Given the description of an element on the screen output the (x, y) to click on. 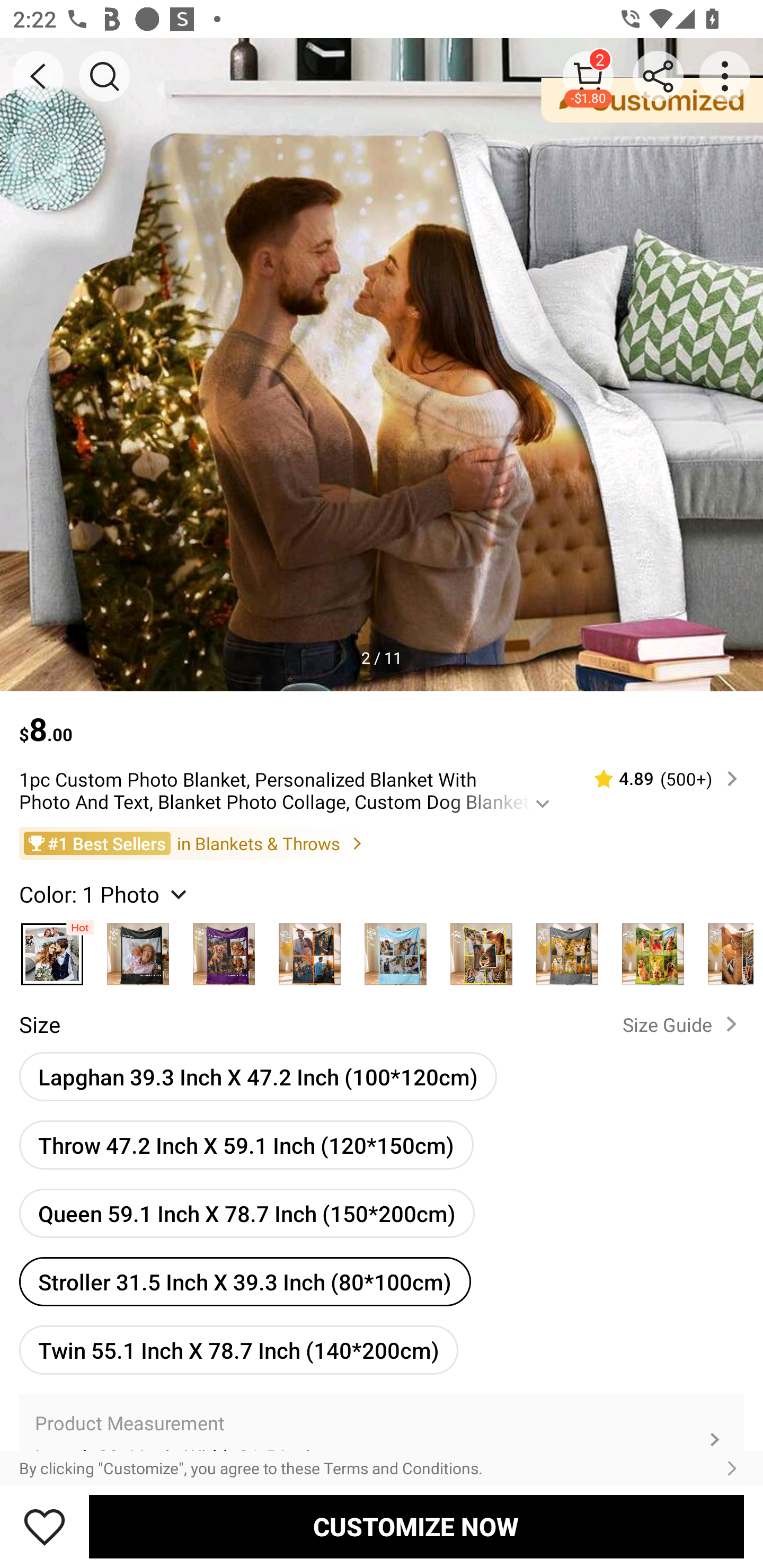
PHOTOS 2 / 11 (381, 364)
BACK (38, 75)
2 -$1.80 (588, 75)
2 / 11 (381, 656)
$8.00 (381, 720)
4.89 (500‎+) (658, 778)
#1 Best Sellers in Blankets & Throws (381, 842)
Color: 1 Photo (105, 893)
1 Photo (52, 949)
1 Photo + Text (138, 949)
3 Photos + Text (224, 949)
4 Photos (309, 949)
4 Photos + Text (395, 949)
5 Photos (481, 949)
5 Photos + Text (567, 949)
6 Photos (652, 949)
6 Photos - 2 (724, 949)
Size (39, 1024)
Size Guide (682, 1023)
CUSTOMIZE NOW (416, 1526)
Save (44, 1526)
